Given the description of an element on the screen output the (x, y) to click on. 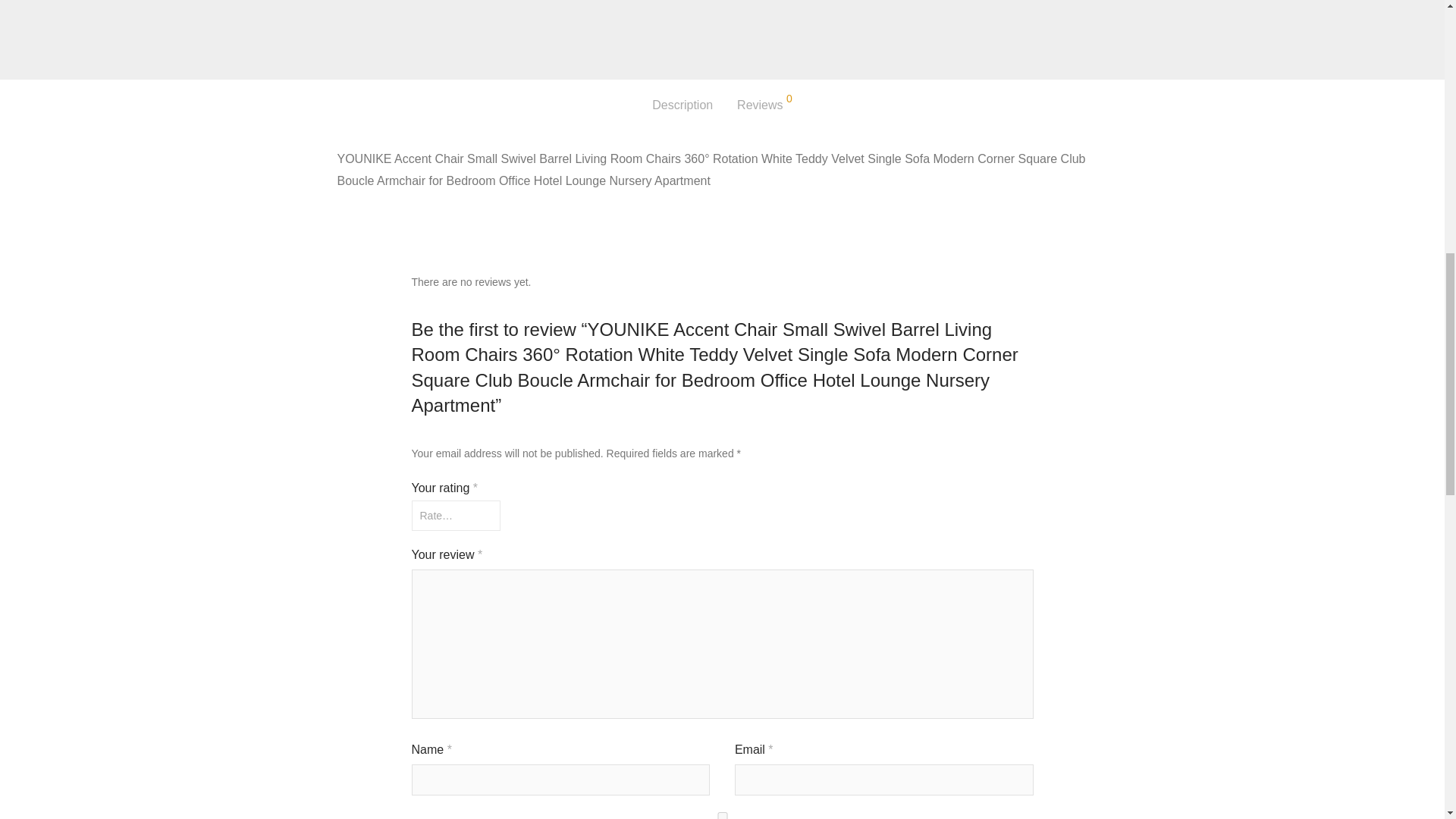
Reviews 0 (764, 105)
Description (682, 105)
